Given the description of an element on the screen output the (x, y) to click on. 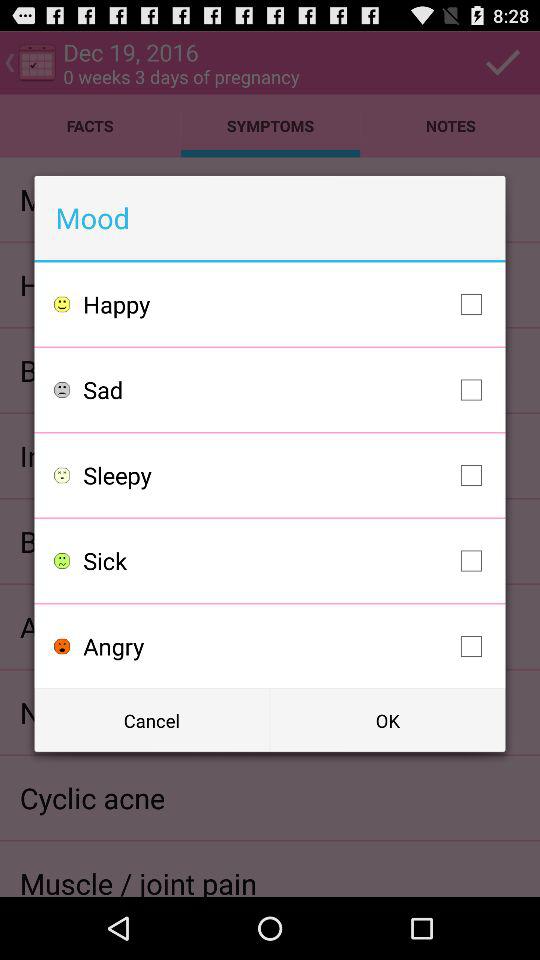
select the sleepy checkbox (287, 475)
